Given the description of an element on the screen output the (x, y) to click on. 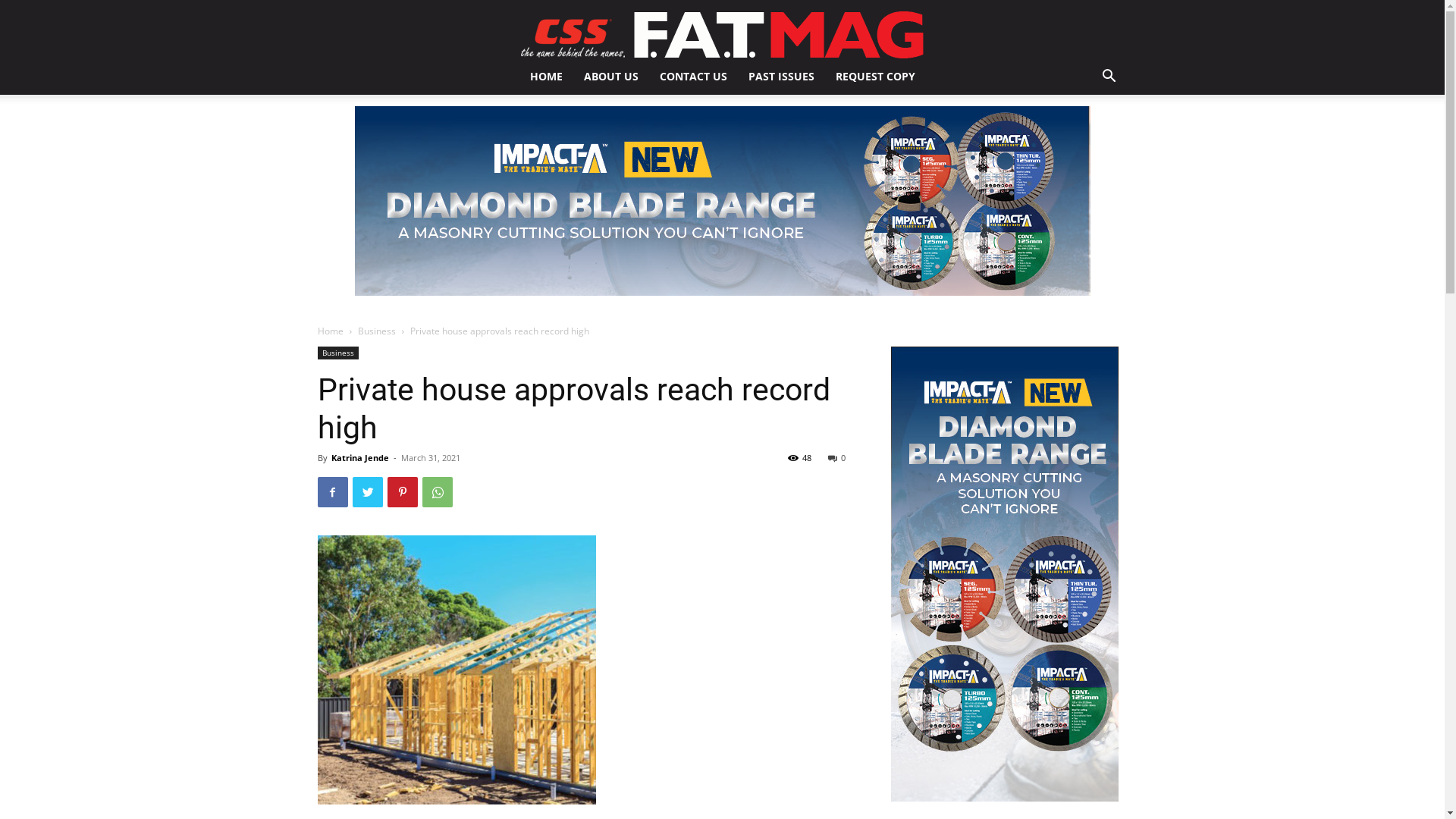
ABOUT US Element type: text (611, 76)
HOME Element type: text (545, 76)
Katrina Jende Element type: text (359, 457)
WhatsApp Element type: hover (436, 491)
News-1-p6 Element type: hover (455, 669)
Twitter Element type: hover (366, 491)
REQUEST COPY Element type: text (875, 76)
CONTACT US Element type: text (693, 76)
Search Element type: text (1085, 137)
Business Element type: text (336, 352)
Facebook Element type: hover (331, 491)
Business Element type: text (376, 330)
0 Element type: text (836, 457)
CSS FAT MAG Element type: text (722, 34)
Pinterest Element type: hover (401, 491)
PAST ISSUES Element type: text (780, 76)
Home Element type: text (329, 330)
